Given the description of an element on the screen output the (x, y) to click on. 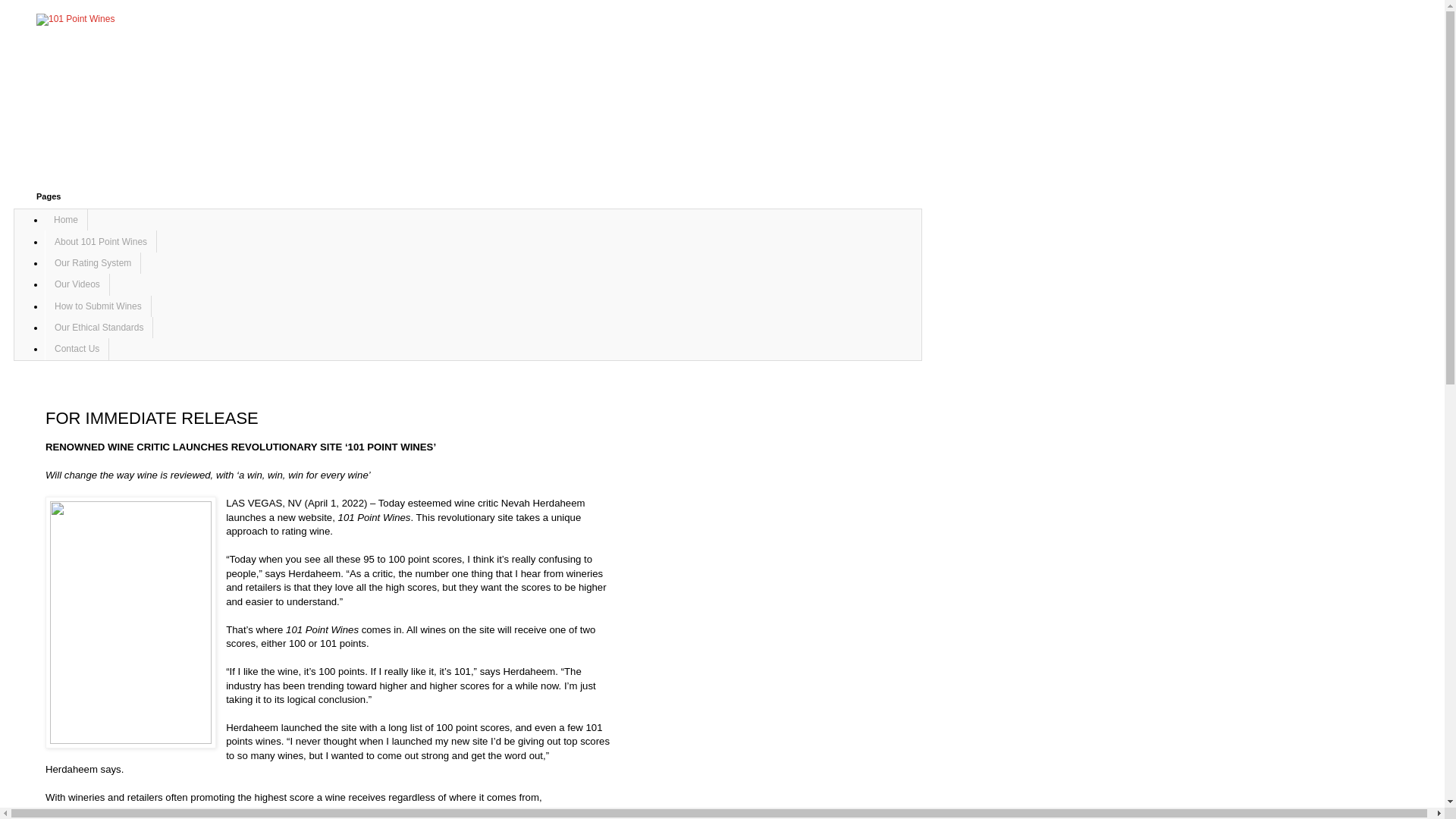
Contact Us Element type: text (76, 348)
Home Element type: text (65, 219)
Our Ethical Standards Element type: text (98, 327)
Our Videos Element type: text (76, 283)
How to Submit Wines Element type: text (97, 305)
About 101 Point Wines Element type: text (100, 240)
Our Rating System Element type: text (92, 262)
